Given the description of an element on the screen output the (x, y) to click on. 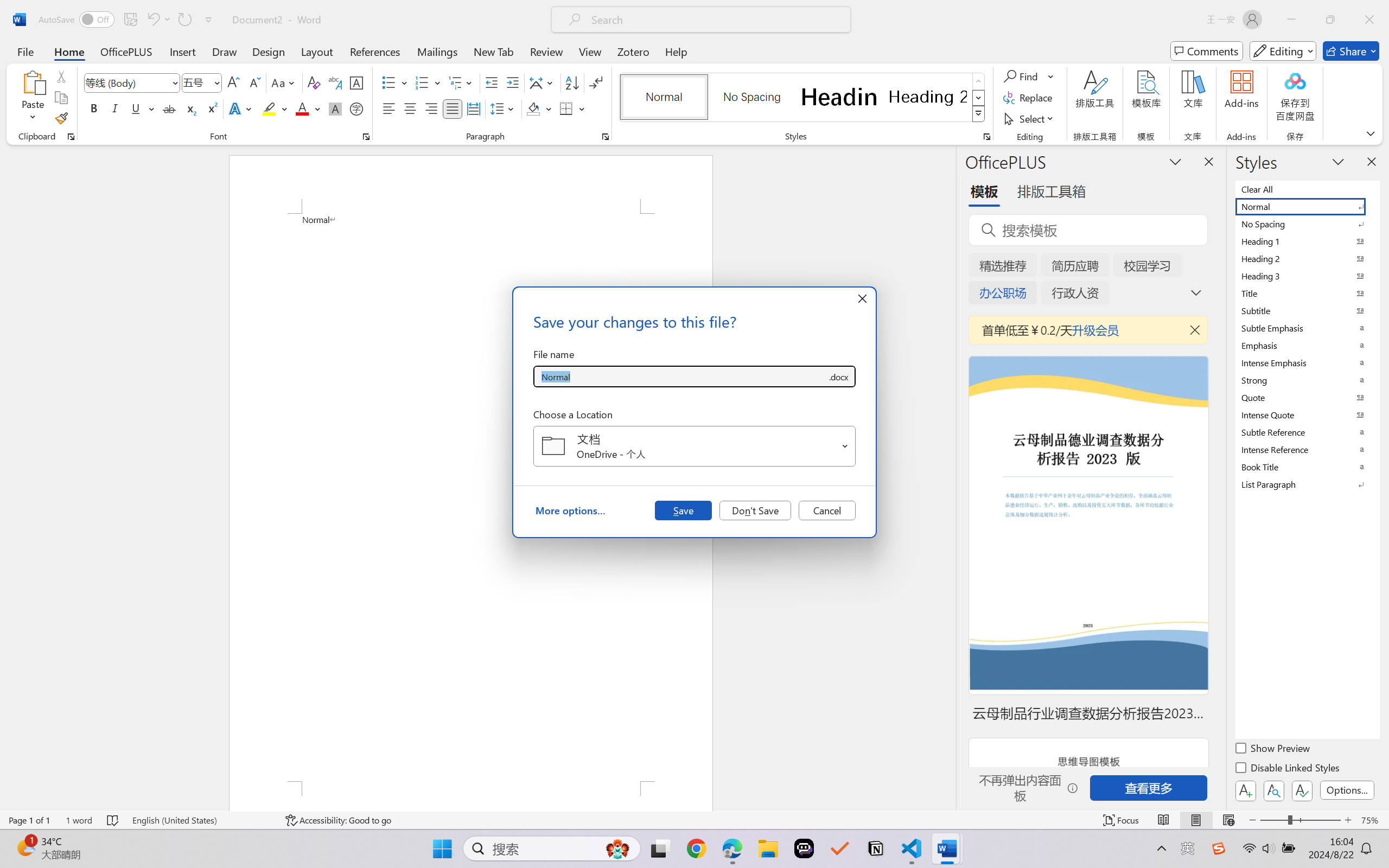
Copy (60, 97)
Shrink Font (253, 82)
Zoom In (1348, 819)
Emphasis (1306, 345)
Borders (566, 108)
Zotero (632, 51)
Subtle Emphasis (1306, 327)
AutomationID: DynamicSearchBoxGleamImage (617, 848)
File Tab (24, 51)
Intense Quote (1306, 414)
